Given the description of an element on the screen output the (x, y) to click on. 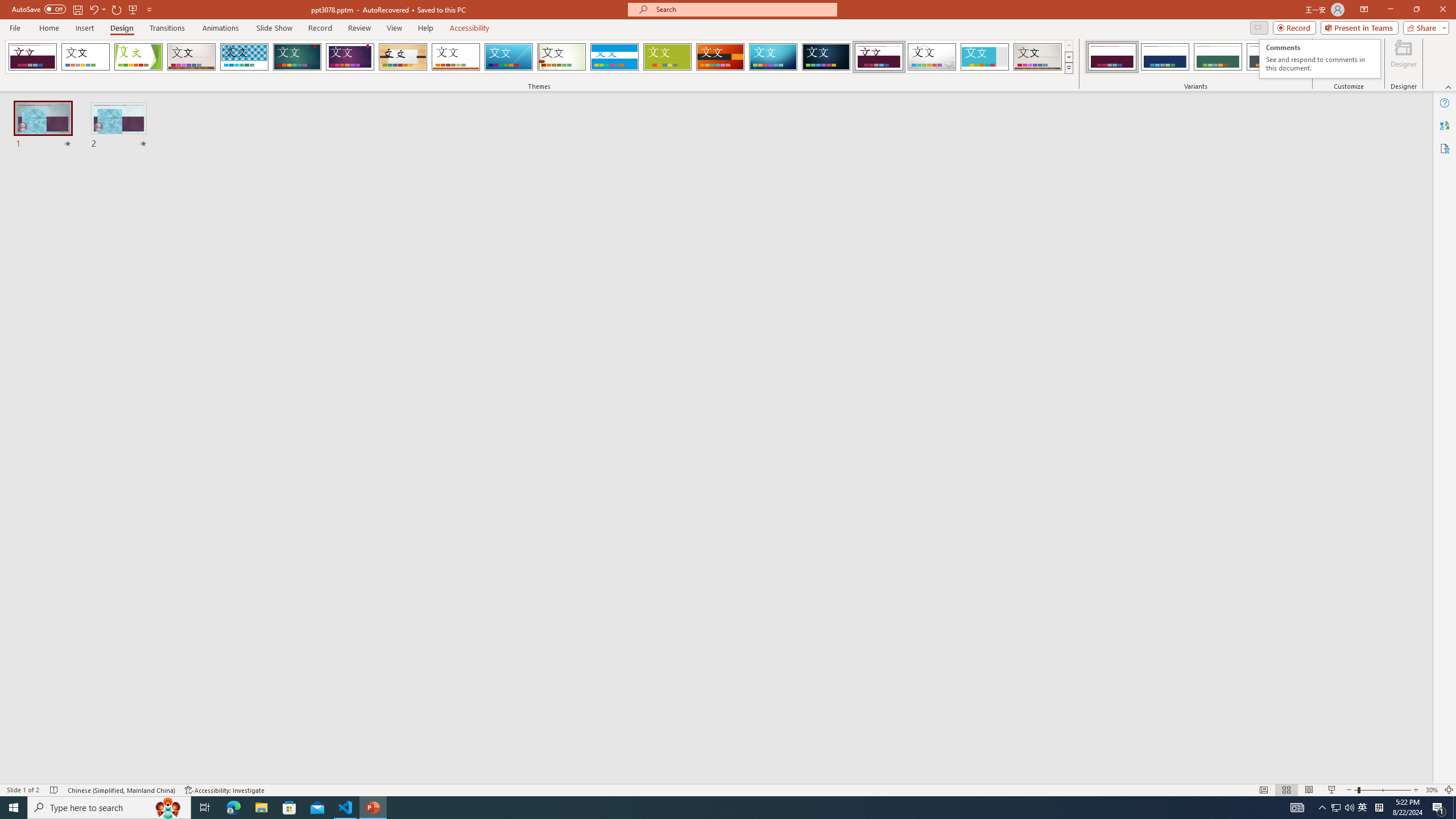
Damask (826, 56)
Ion (296, 56)
AutomationID: SlideThemesGallery (539, 56)
Slice (508, 56)
Themes (1068, 67)
AutomationID: ThemeVariantsGallery (1195, 56)
Integral (244, 56)
